Given the description of an element on the screen output the (x, y) to click on. 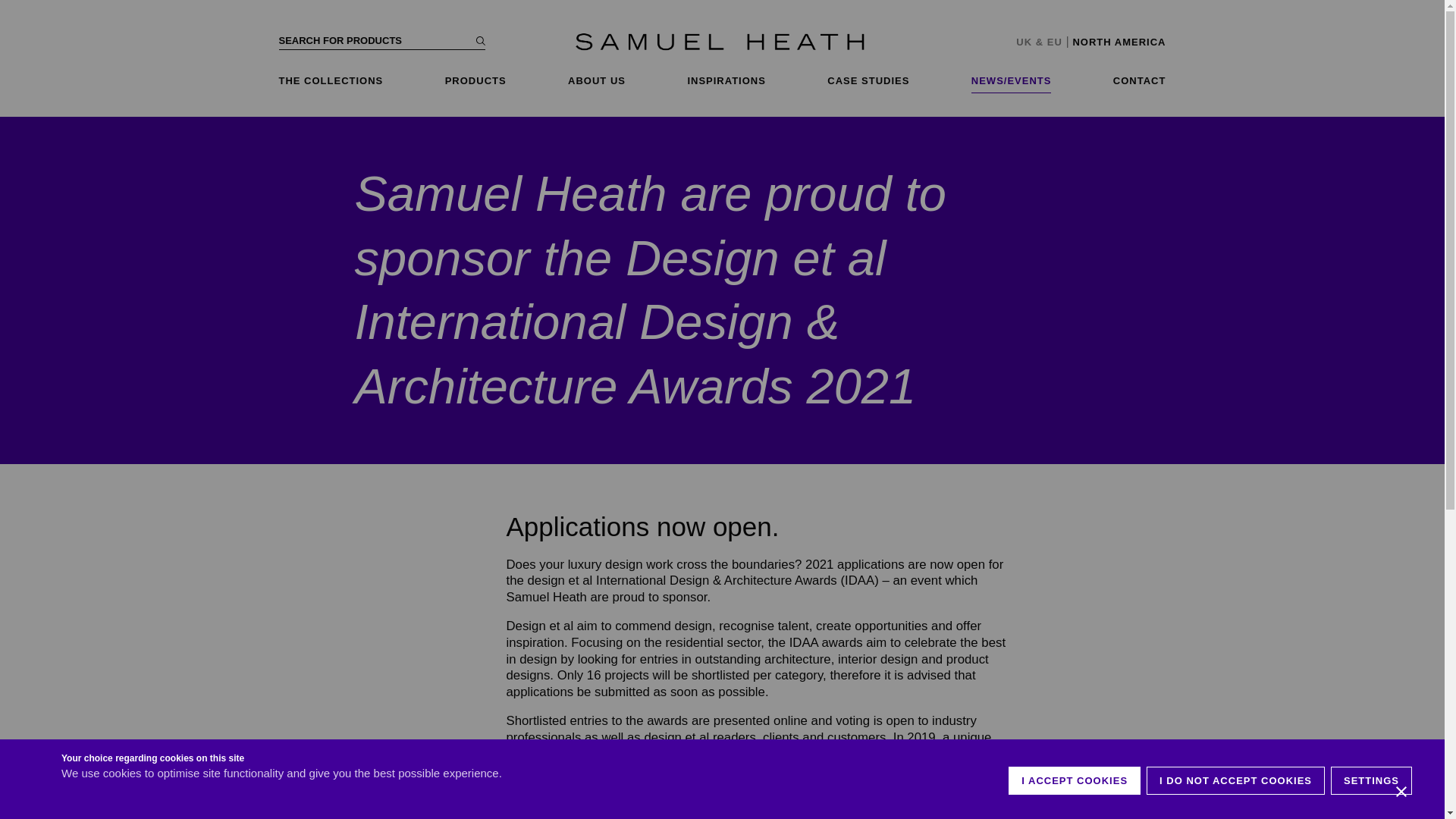
I ACCEPT COOKIES (1074, 779)
United Kingdom (1024, 41)
North American website (1118, 41)
Europe (1054, 41)
I DO NOT ACCEPT COOKIES (1235, 779)
SETTINGS (1371, 779)
